Given the description of an element on the screen output the (x, y) to click on. 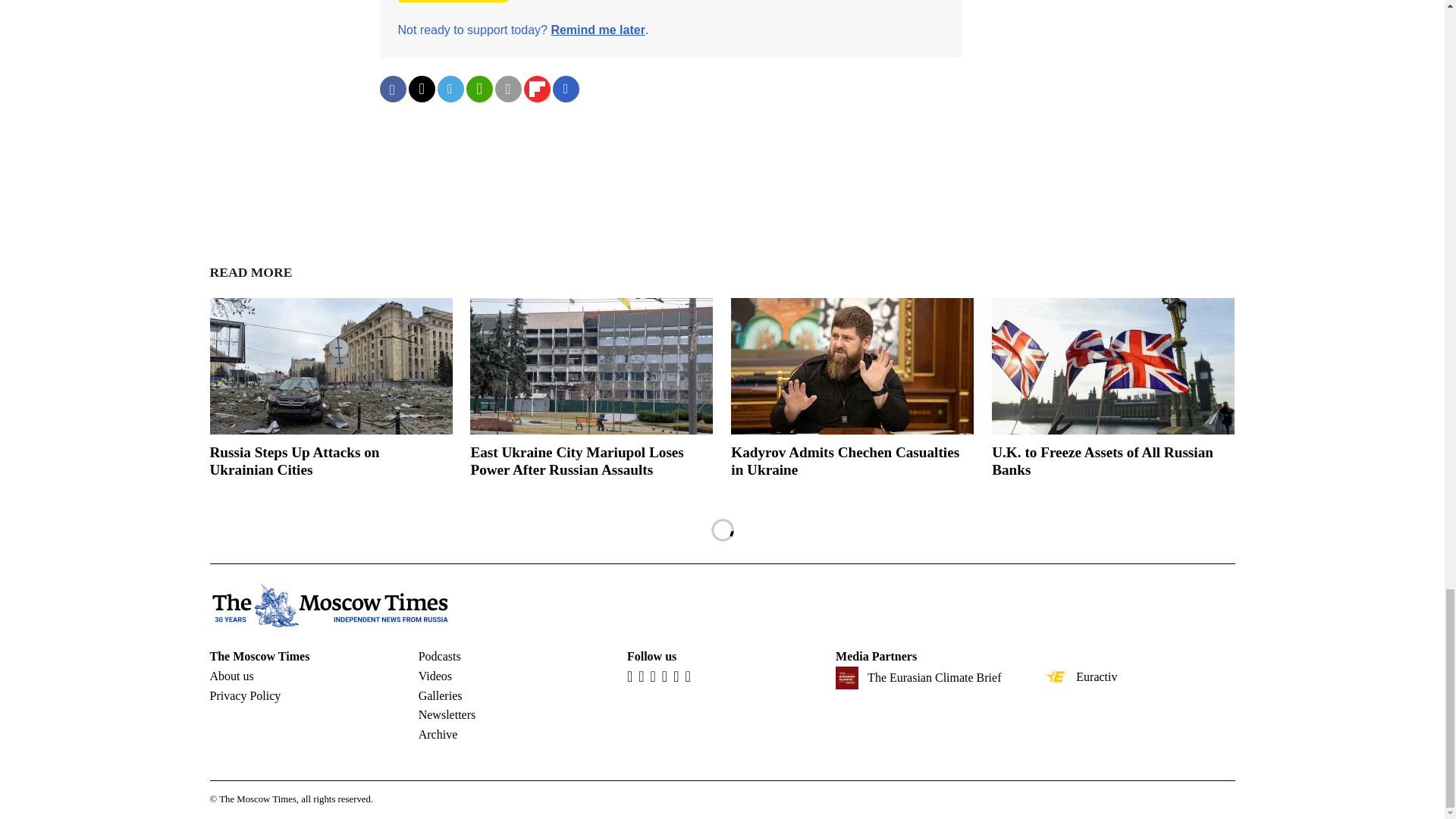
Share on Twitter (420, 89)
Share on Facebook (392, 89)
Share on Telegram (449, 89)
Share on Flipboard (536, 89)
